Given the description of an element on the screen output the (x, y) to click on. 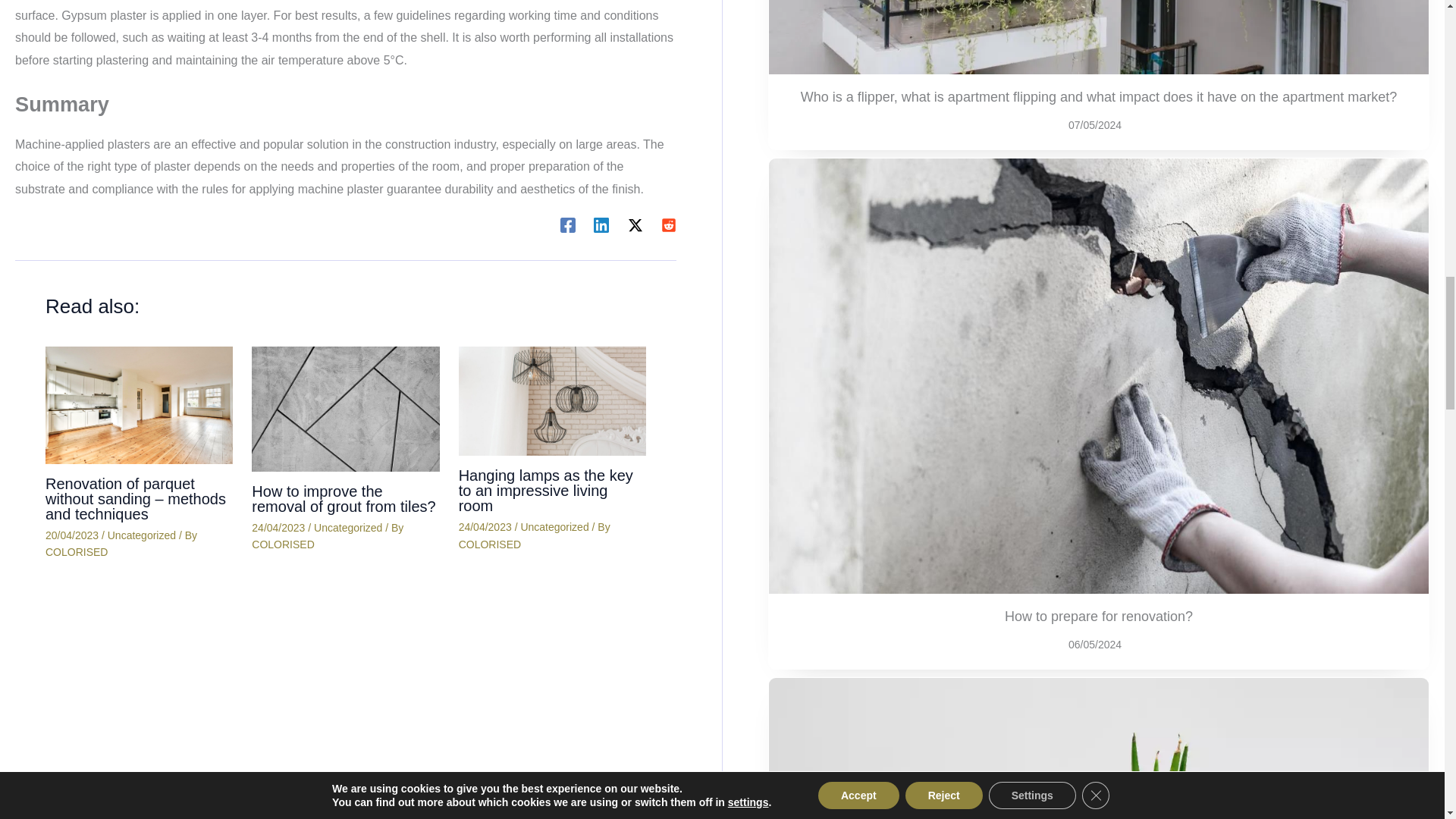
View all posts by COLORISED (76, 551)
View all posts by COLORISED (282, 544)
View all posts by COLORISED (489, 544)
